Given the description of an element on the screen output the (x, y) to click on. 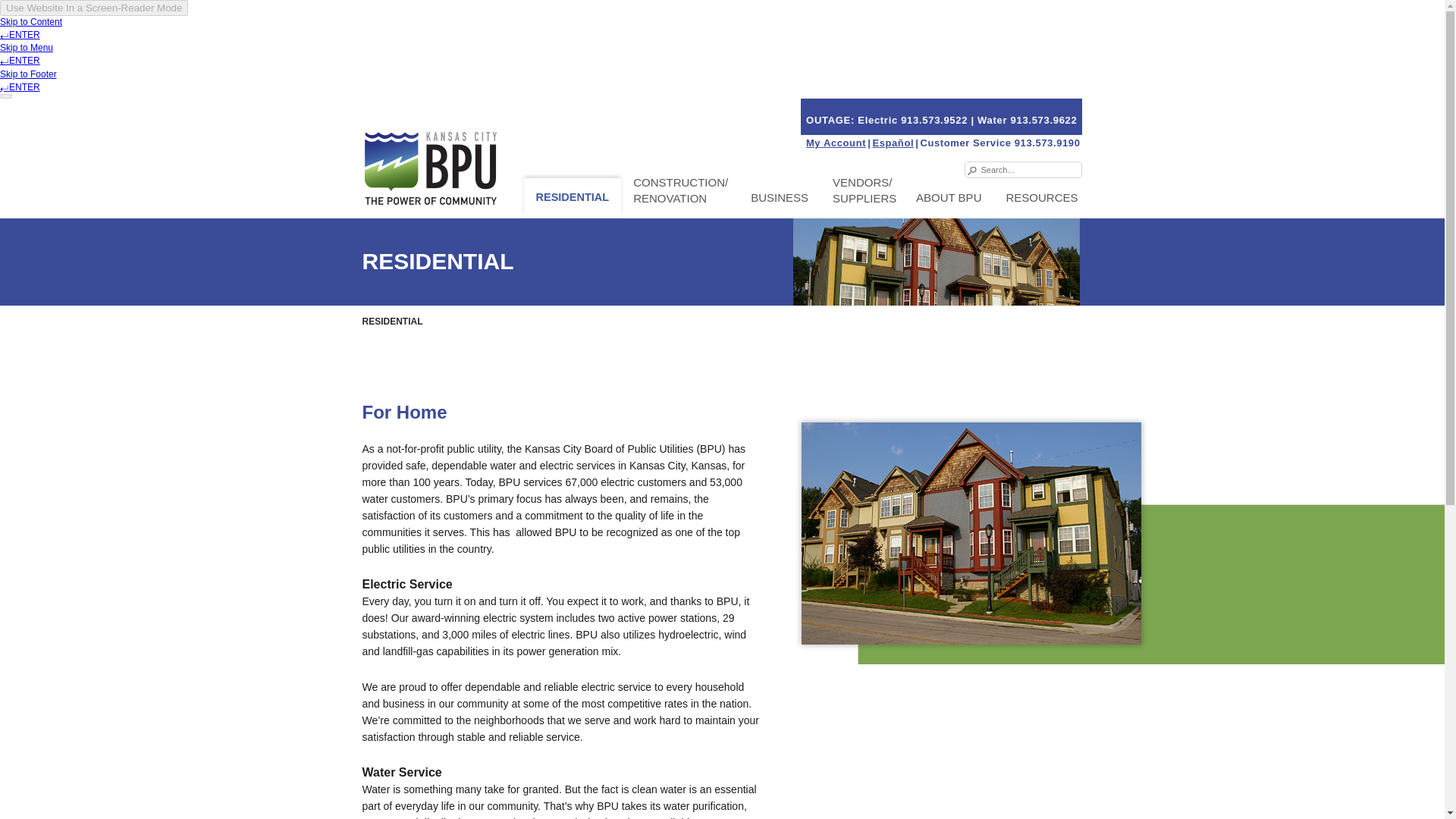
RESIDENTIAL (572, 197)
Clear search text (1068, 169)
Live chat (1401, 782)
913.573.9522 (936, 120)
My Account (836, 142)
913.573.9622 (1043, 120)
